Given the description of an element on the screen output the (x, y) to click on. 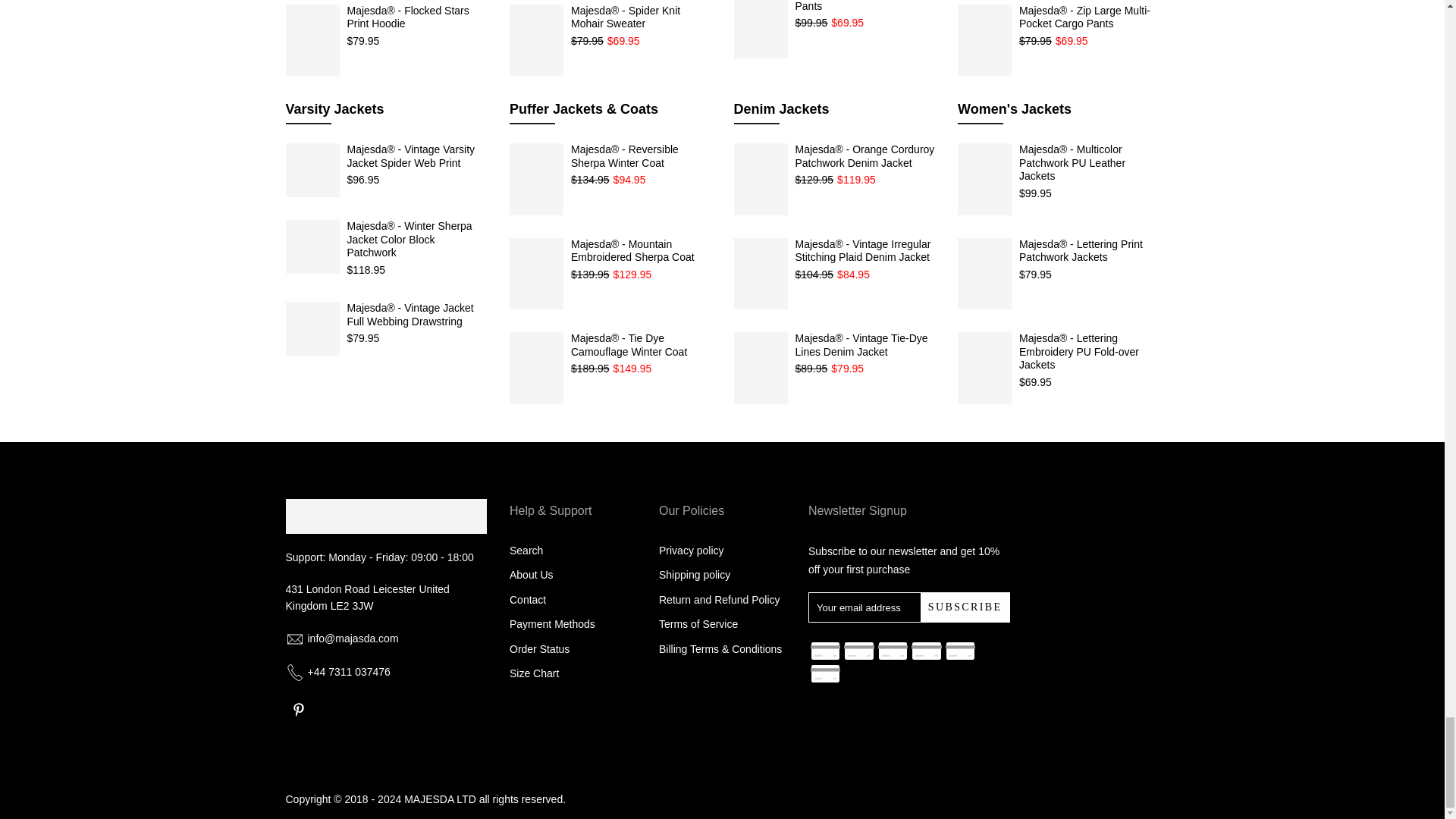
Follow on Pinterest (298, 709)
